Given the description of an element on the screen output the (x, y) to click on. 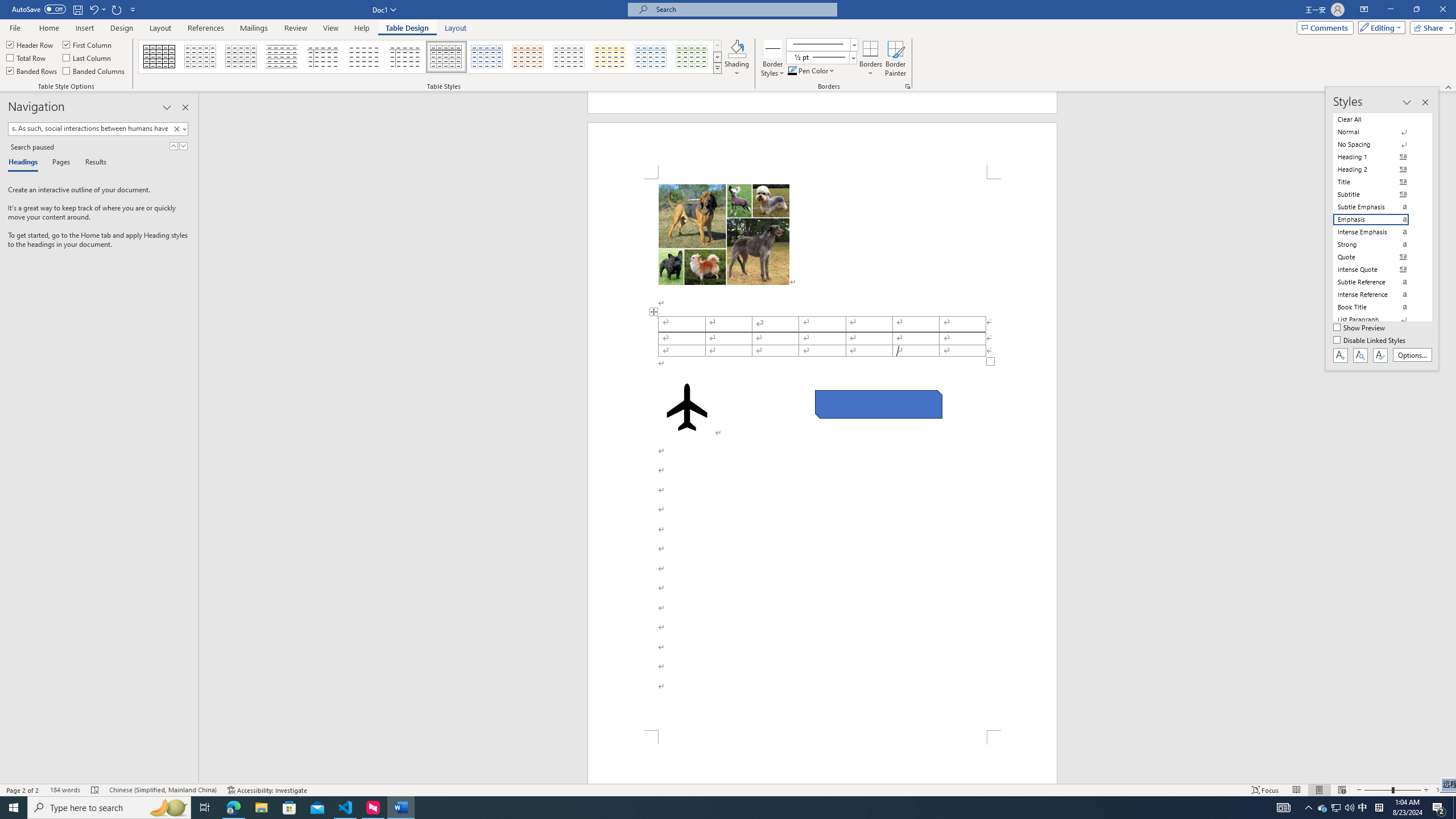
Intense Reference (1377, 294)
Border Painter (895, 58)
Grid Table 1 Light - Accent 5 (650, 56)
Clear (176, 128)
Grid Table 1 Light - Accent 2 (528, 56)
Pen Color (811, 69)
Plain Table 1 (241, 56)
Pen Weight (821, 56)
Page Number Page 2 of 2 (22, 790)
